Given the description of an element on the screen output the (x, y) to click on. 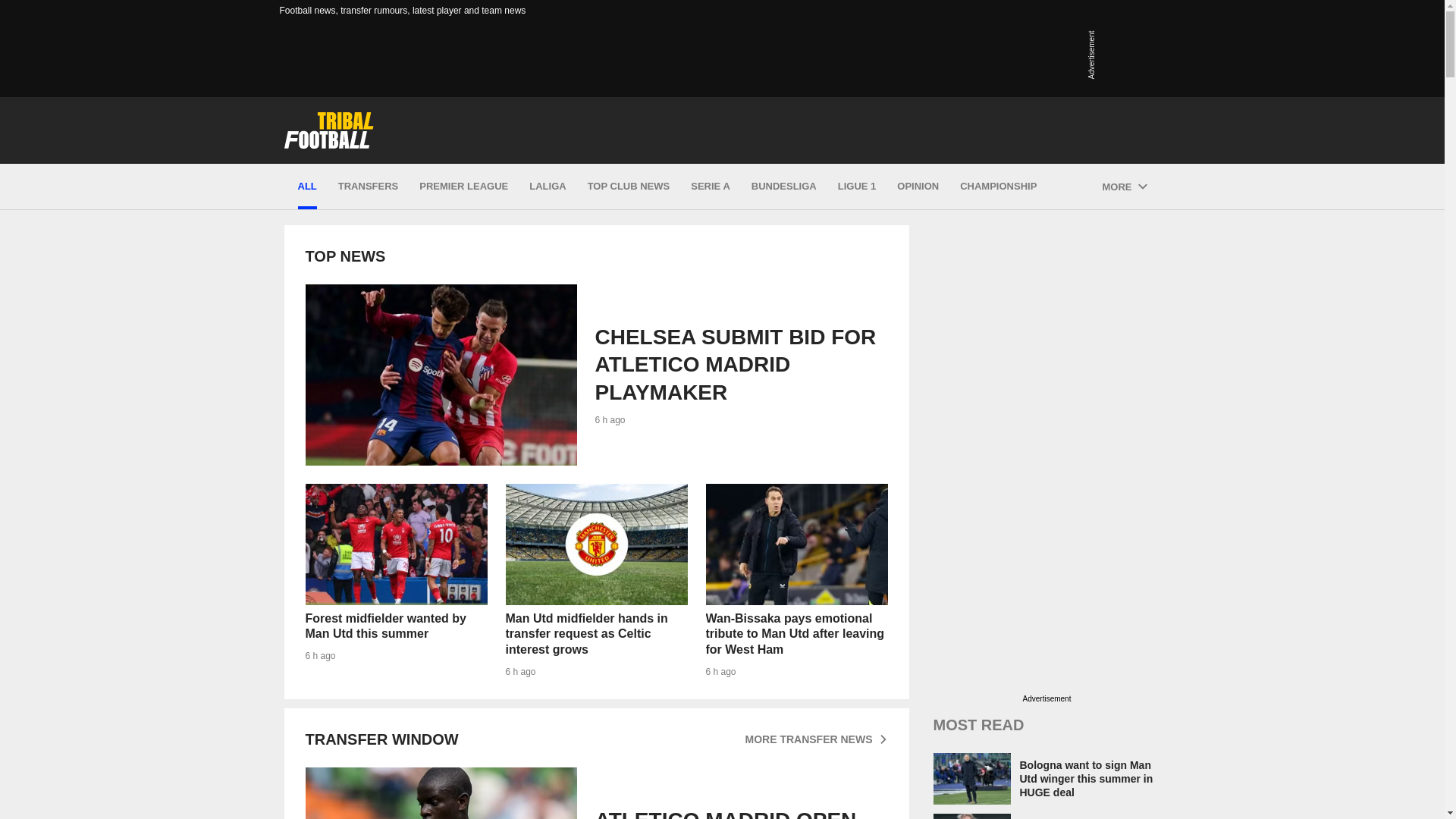
Chelsea submit bid for Atletico Madrid playmaker (440, 375)
MORE TRANSFER NEWS (815, 739)
Forest midfielder wanted by Man Utd this summer (395, 581)
Atletico Madrid open talks with Al Ittihad midfielder Kante (395, 581)
MORE (595, 793)
Atletico Madrid open talks with Al Ittihad midfielder Kante (1124, 186)
